Given the description of an element on the screen output the (x, y) to click on. 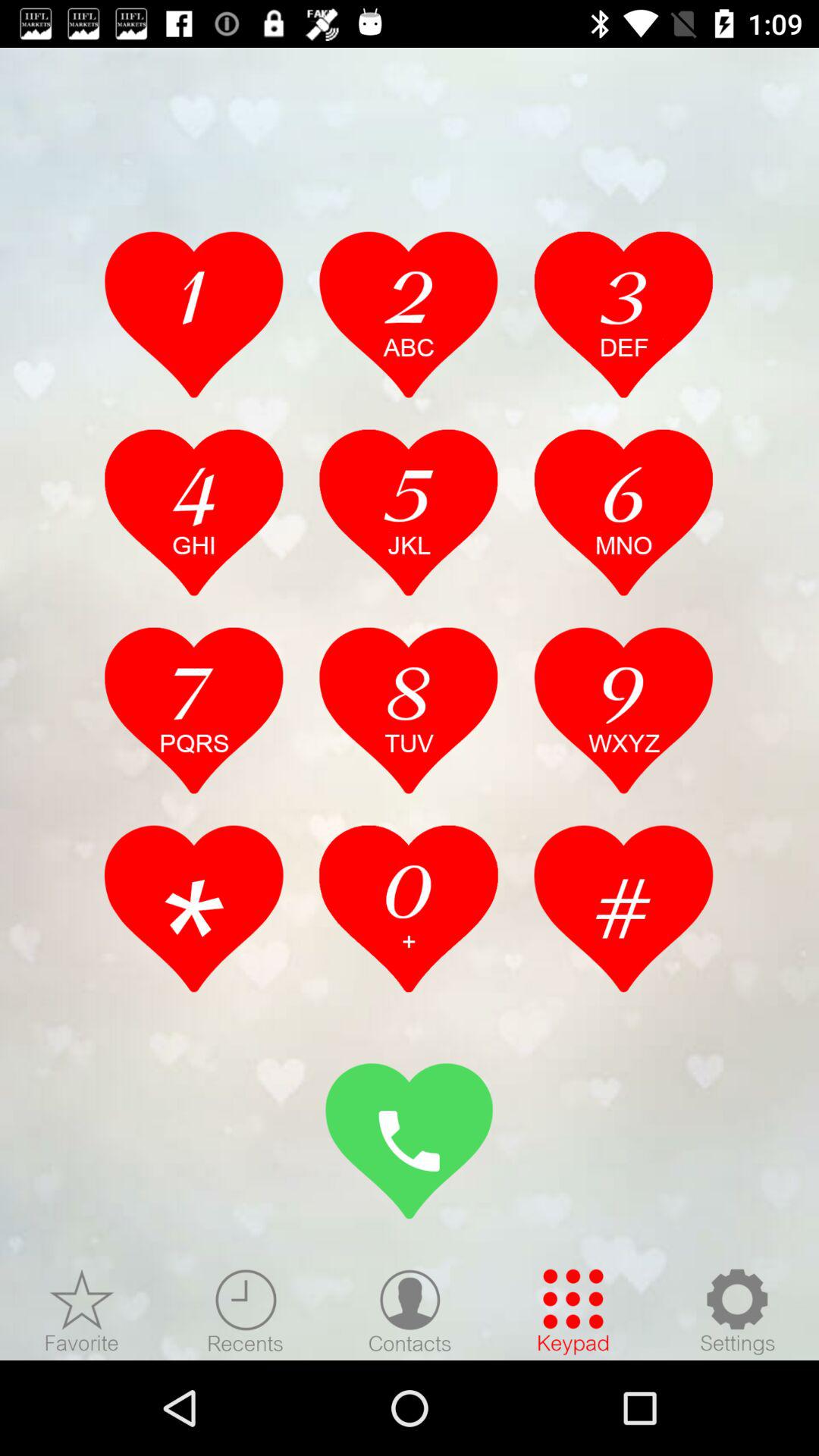
1 (194, 314)
